Given the description of an element on the screen output the (x, y) to click on. 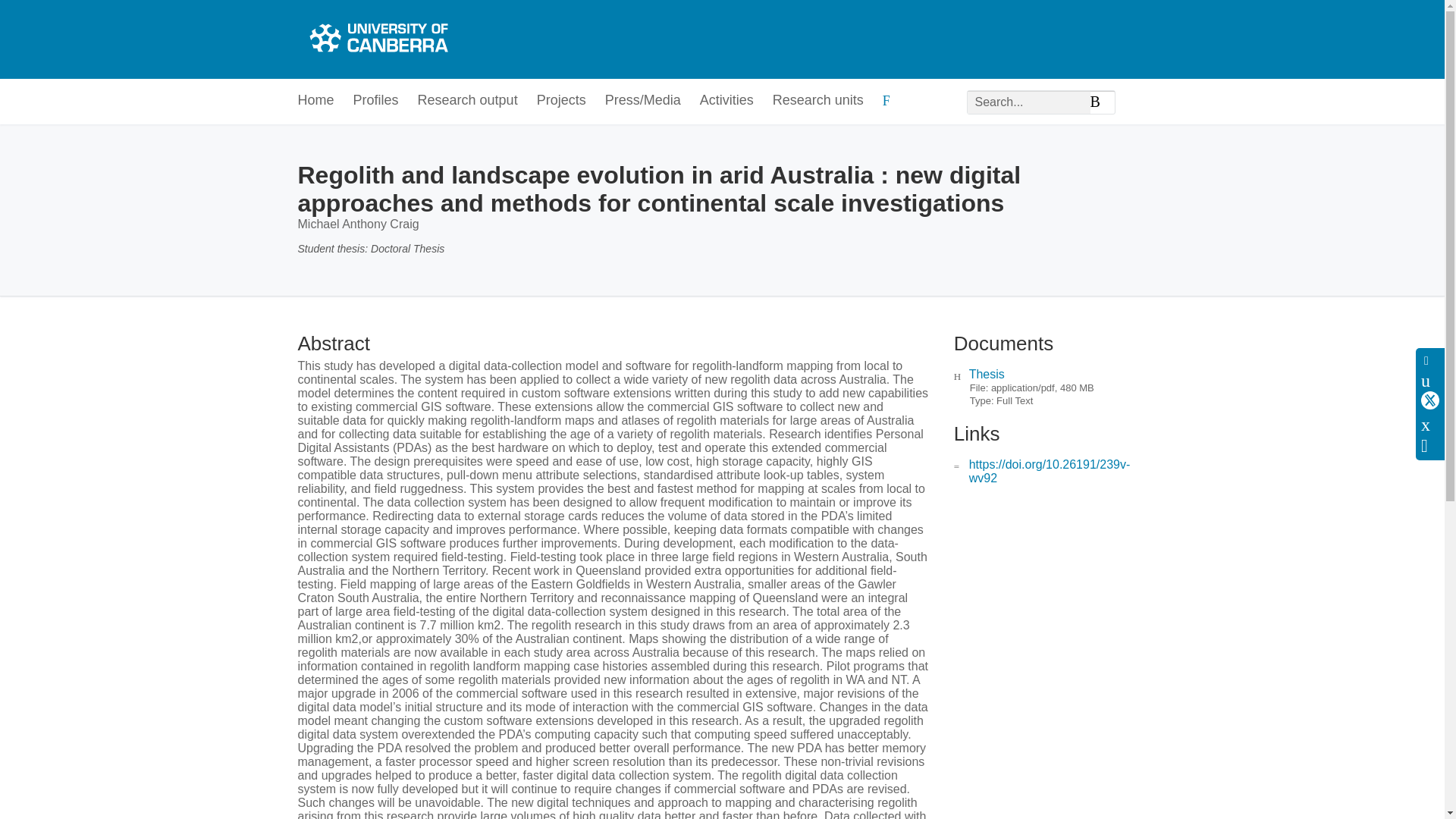
Projects (561, 100)
Activities (727, 100)
Research units (818, 100)
Research output (467, 100)
Thesis (986, 373)
University of Canberra Research Portal Home (377, 39)
Profiles (375, 100)
